Given the description of an element on the screen output the (x, y) to click on. 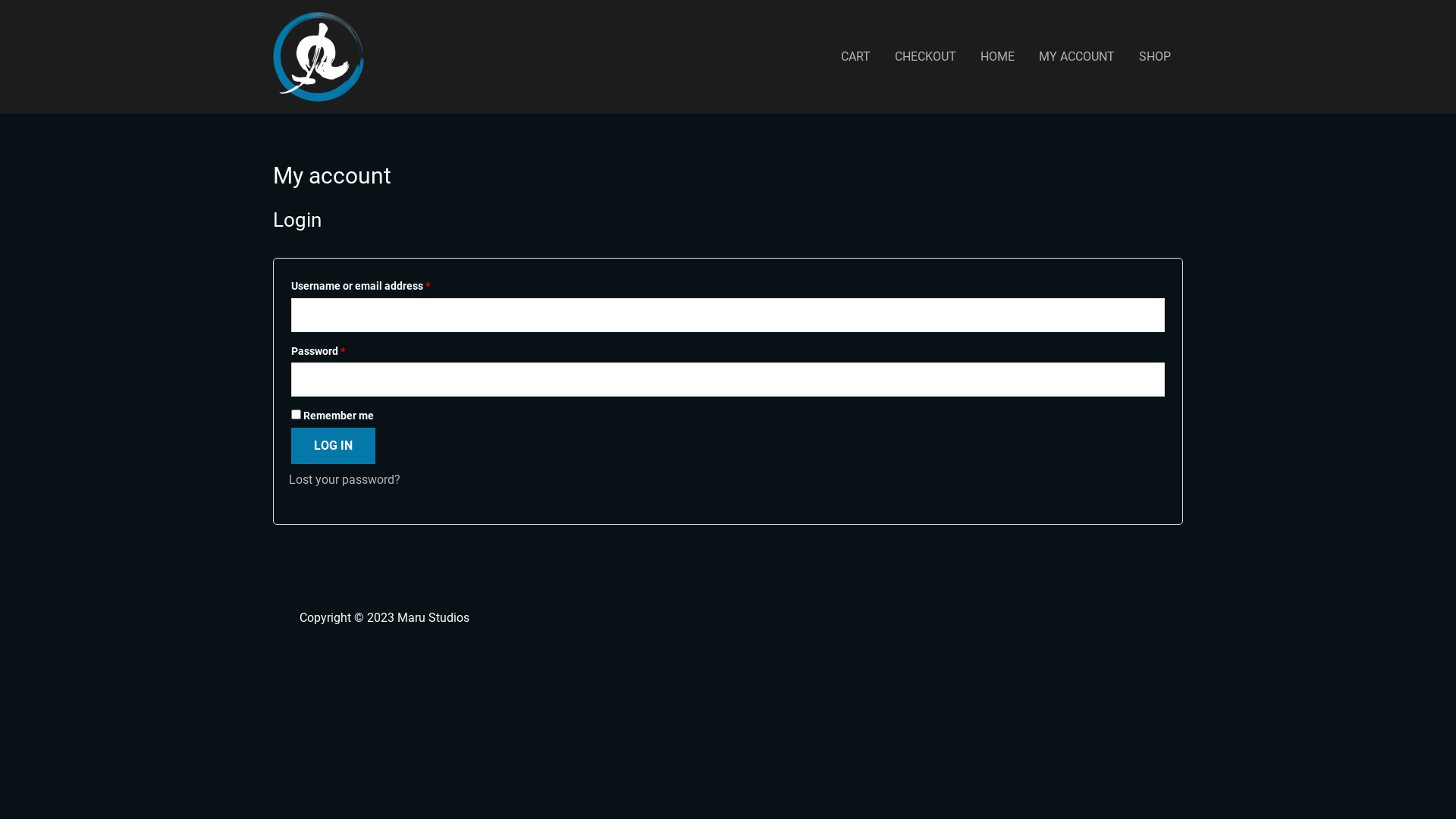
CHECKOUT Element type: text (925, 56)
MY ACCOUNT Element type: text (1076, 56)
LOG IN Element type: text (333, 445)
SHOP Element type: text (1154, 56)
HOME Element type: text (997, 56)
CART Element type: text (855, 56)
Lost your password? Element type: text (344, 479)
